Given the description of an element on the screen output the (x, y) to click on. 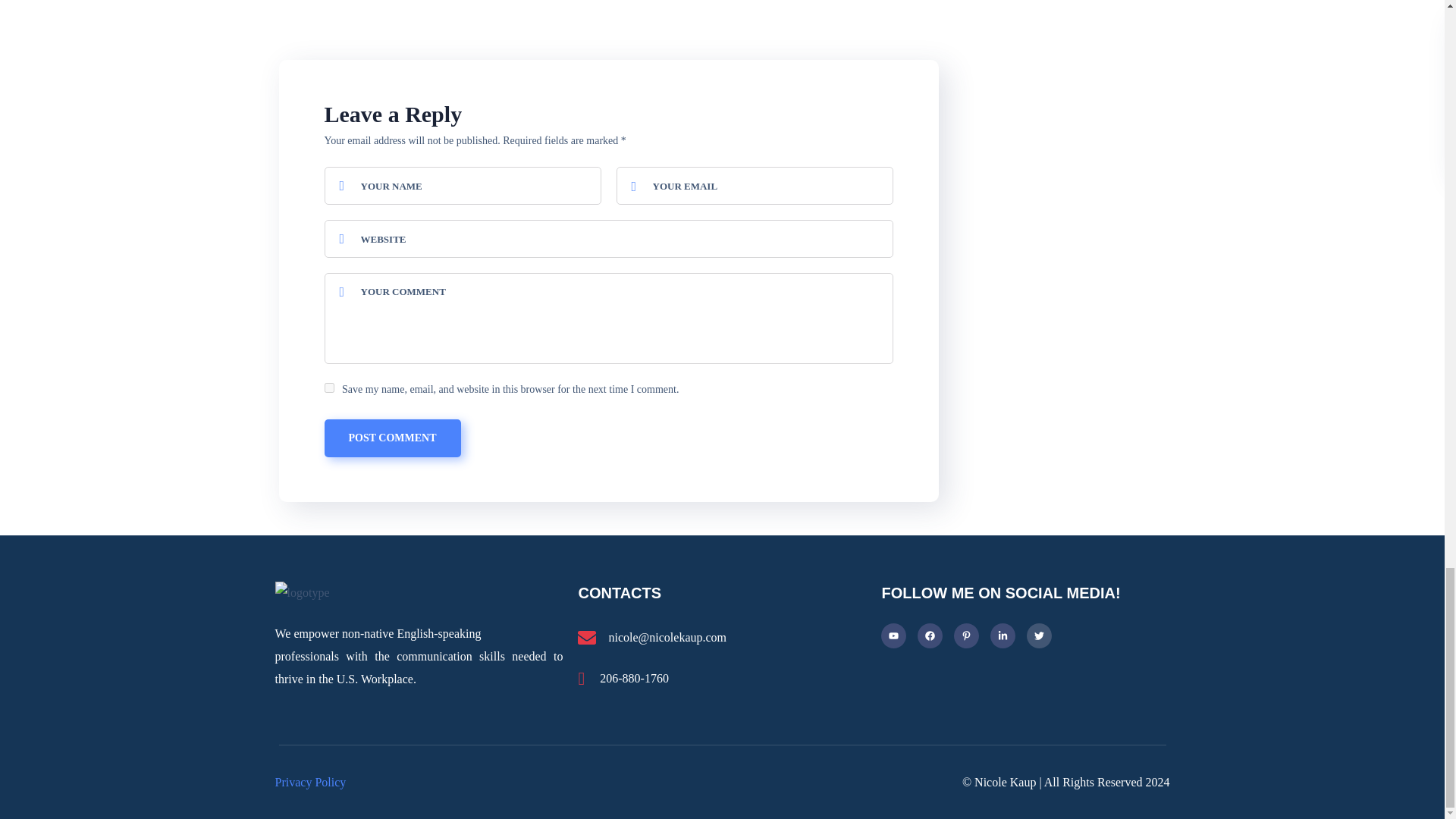
YOUR EMAIL (753, 185)
Post Comment (392, 438)
WEBSITE (608, 238)
Youtube (892, 635)
Pinterest (965, 635)
YOUR NAME (462, 185)
yes (329, 388)
Fb (929, 635)
Linkedin (1002, 635)
